Given the description of an element on the screen output the (x, y) to click on. 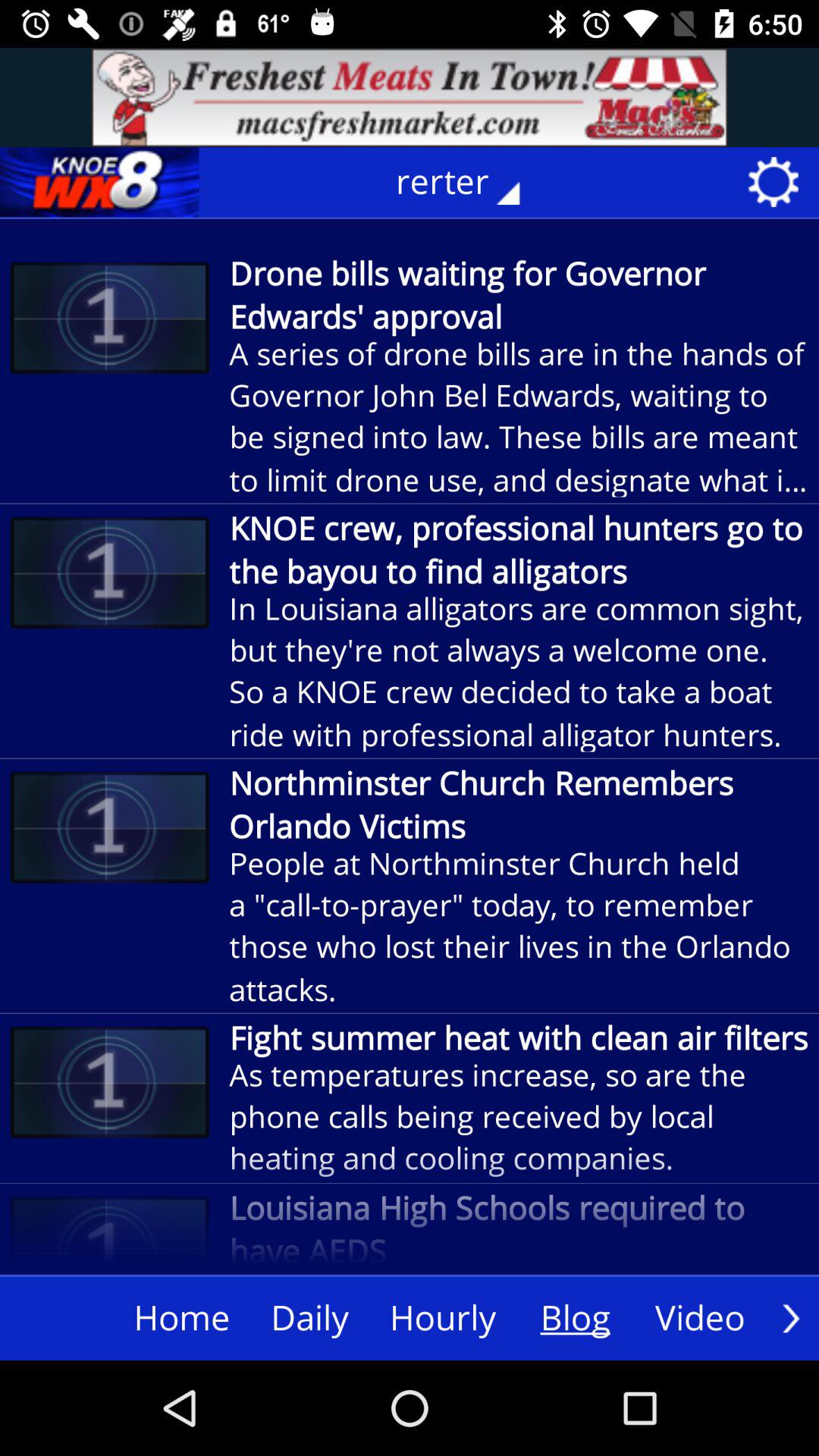
advertisement area (409, 97)
